Given the description of an element on the screen output the (x, y) to click on. 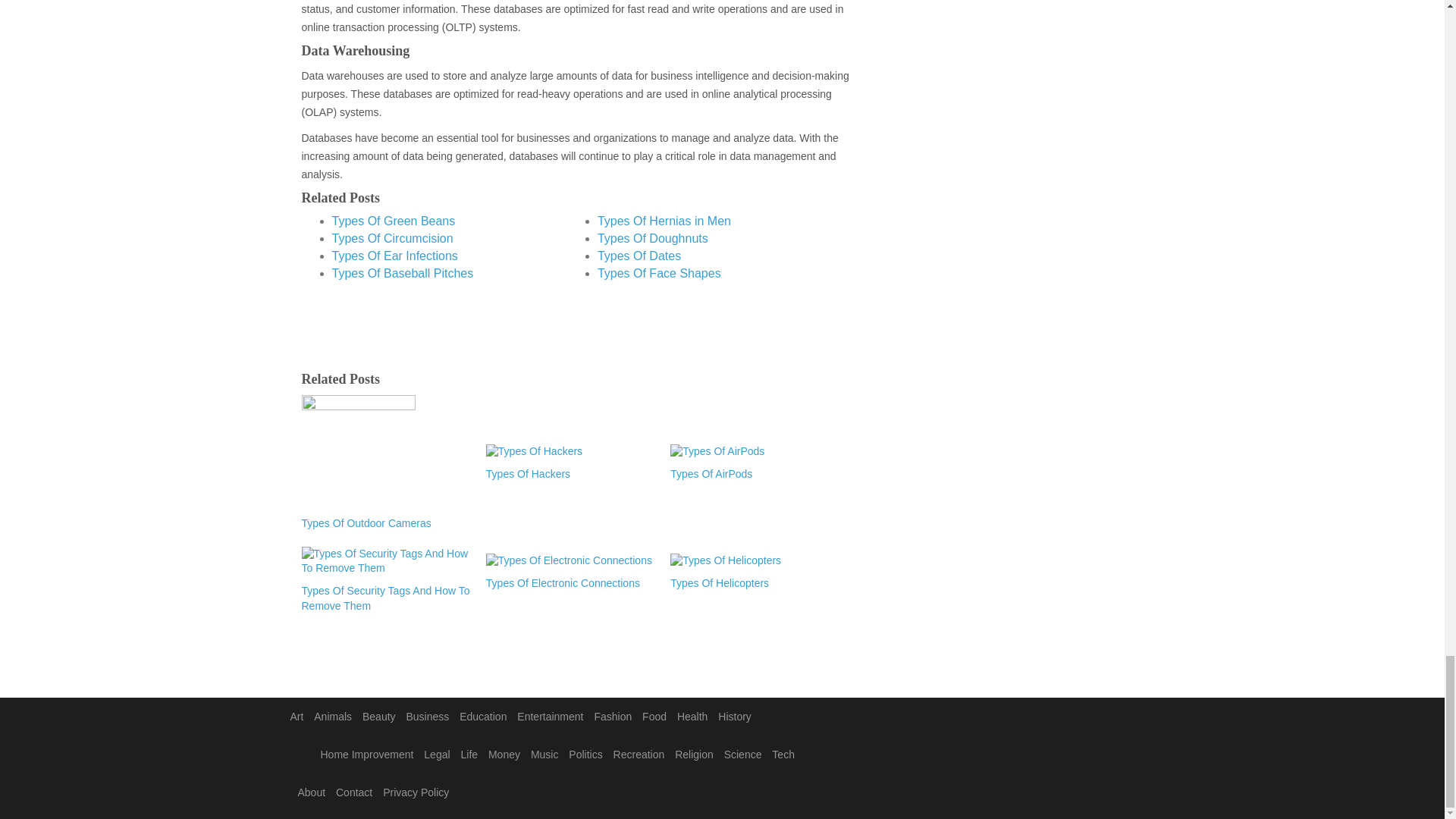
Types Of Circumcision (391, 237)
Types Of Outdoor Cameras (385, 523)
Types Of Dates (638, 255)
Types Of Baseball Pitches (402, 273)
Types Of Security Tags And How To Remove Them (385, 598)
Types Of Hackers (570, 473)
Types Of Helicopters (754, 583)
Types Of Hernias in Men (663, 220)
Types Of Ear Infections (394, 255)
Types Of Doughnuts (651, 237)
